Given the description of an element on the screen output the (x, y) to click on. 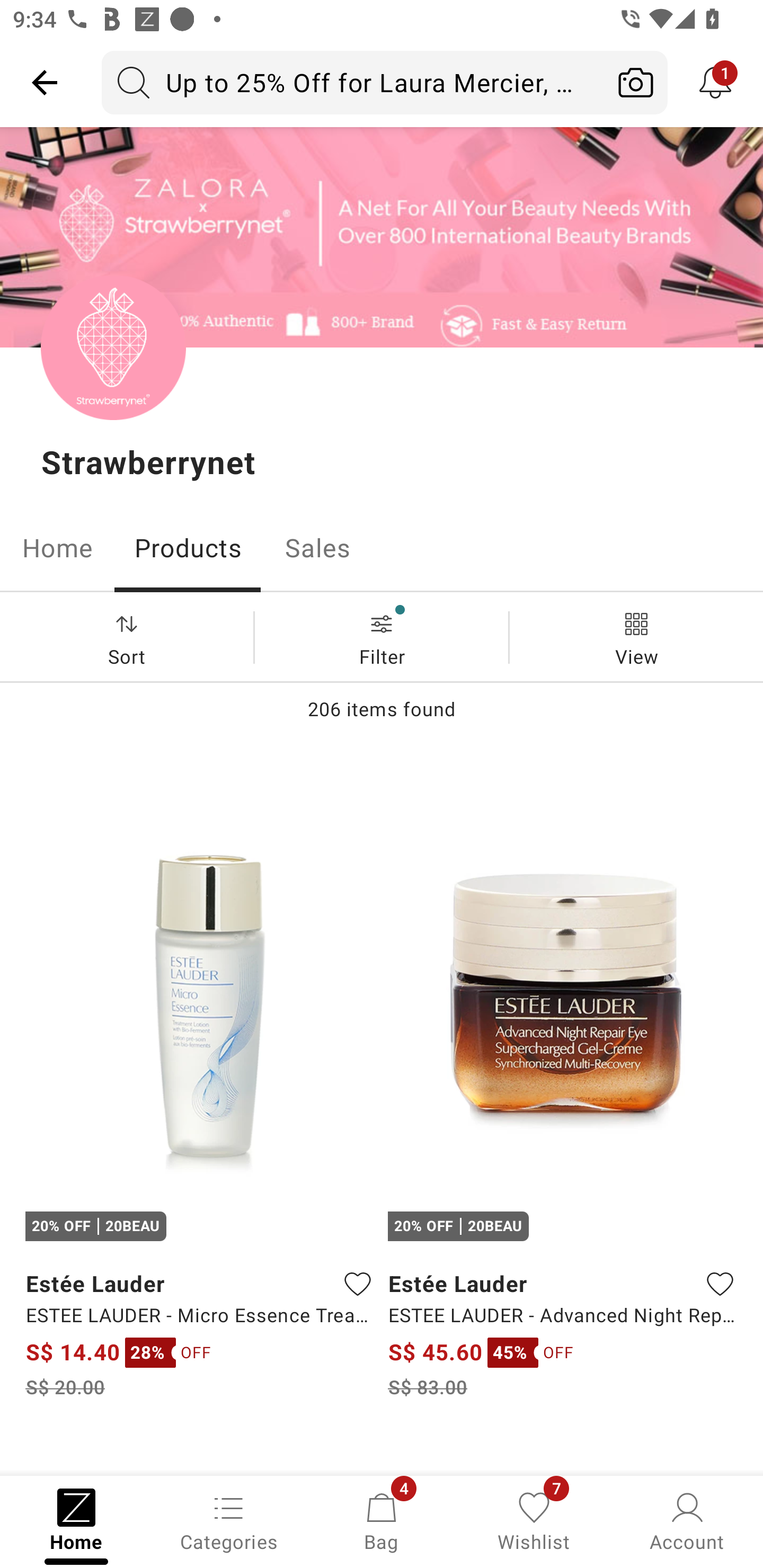
Navigate up (44, 82)
Home (57, 547)
Sales (317, 547)
Categories (228, 1519)
Bag, 4 new notifications Bag (381, 1519)
Wishlist, 7 new notifications Wishlist (533, 1519)
Account (686, 1519)
